Given the description of an element on the screen output the (x, y) to click on. 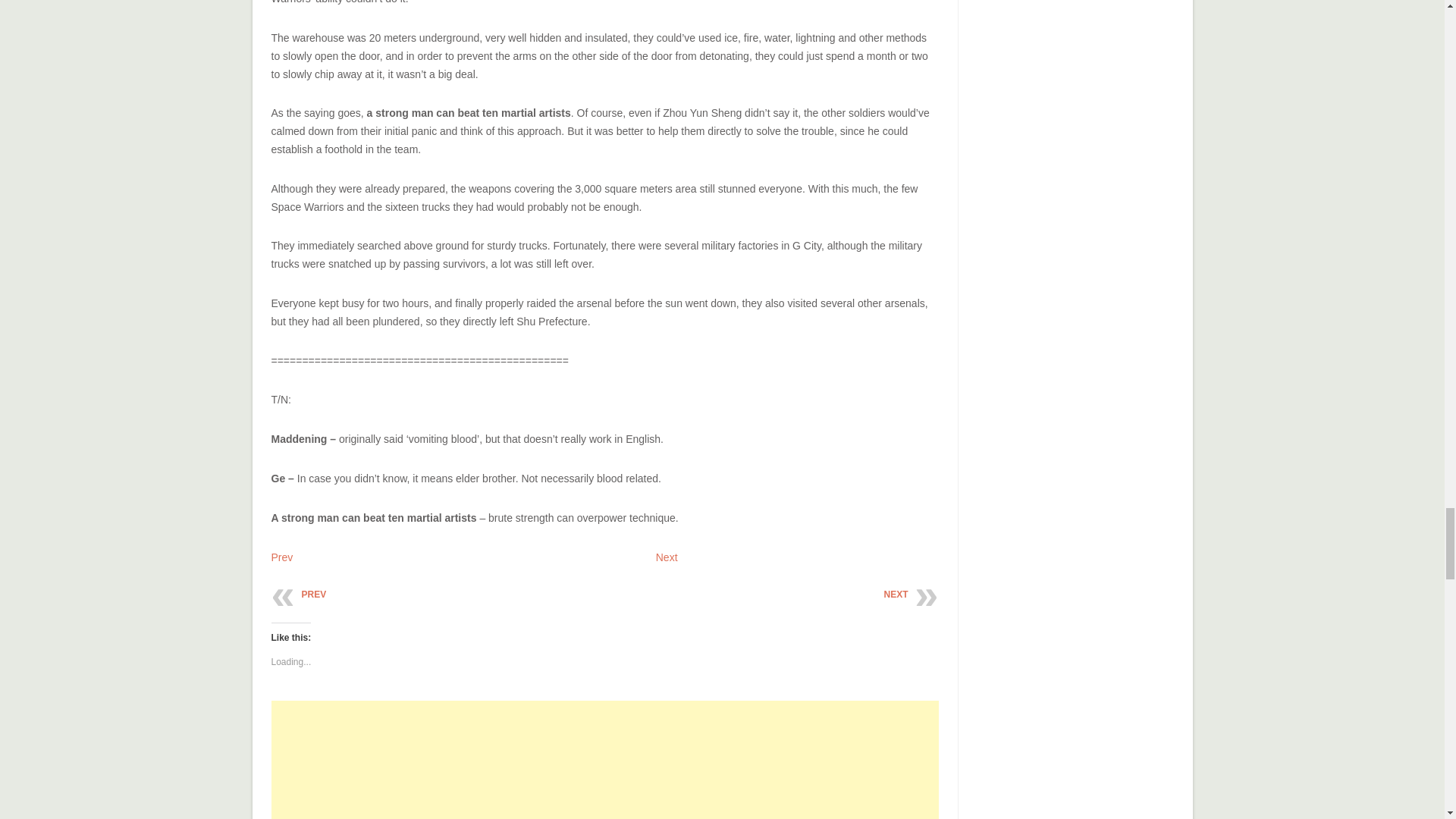
Prev (282, 557)
NEXT (895, 593)
PREV (313, 593)
Next (667, 557)
